Given the description of an element on the screen output the (x, y) to click on. 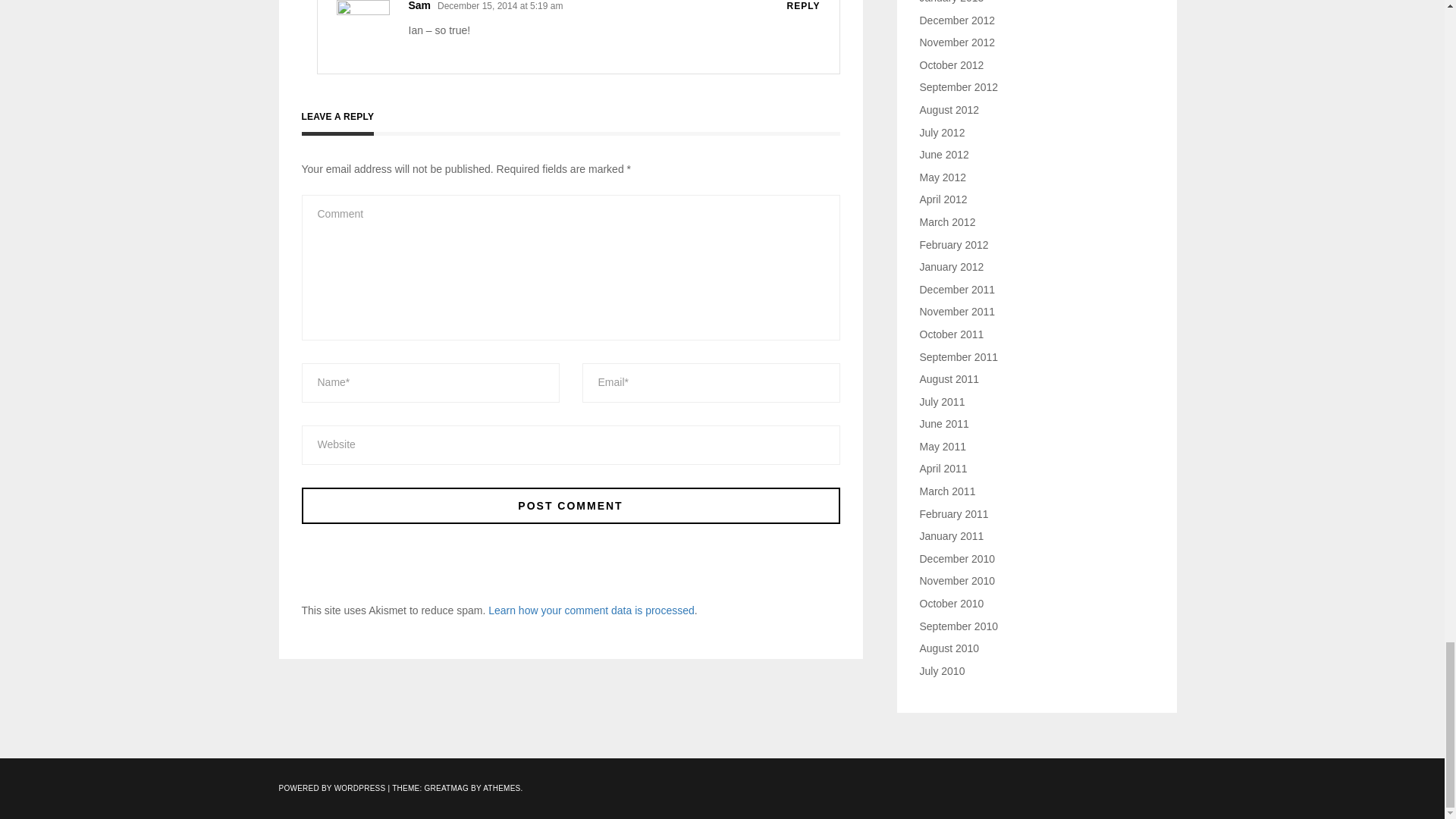
Post Comment (570, 505)
